Given the description of an element on the screen output the (x, y) to click on. 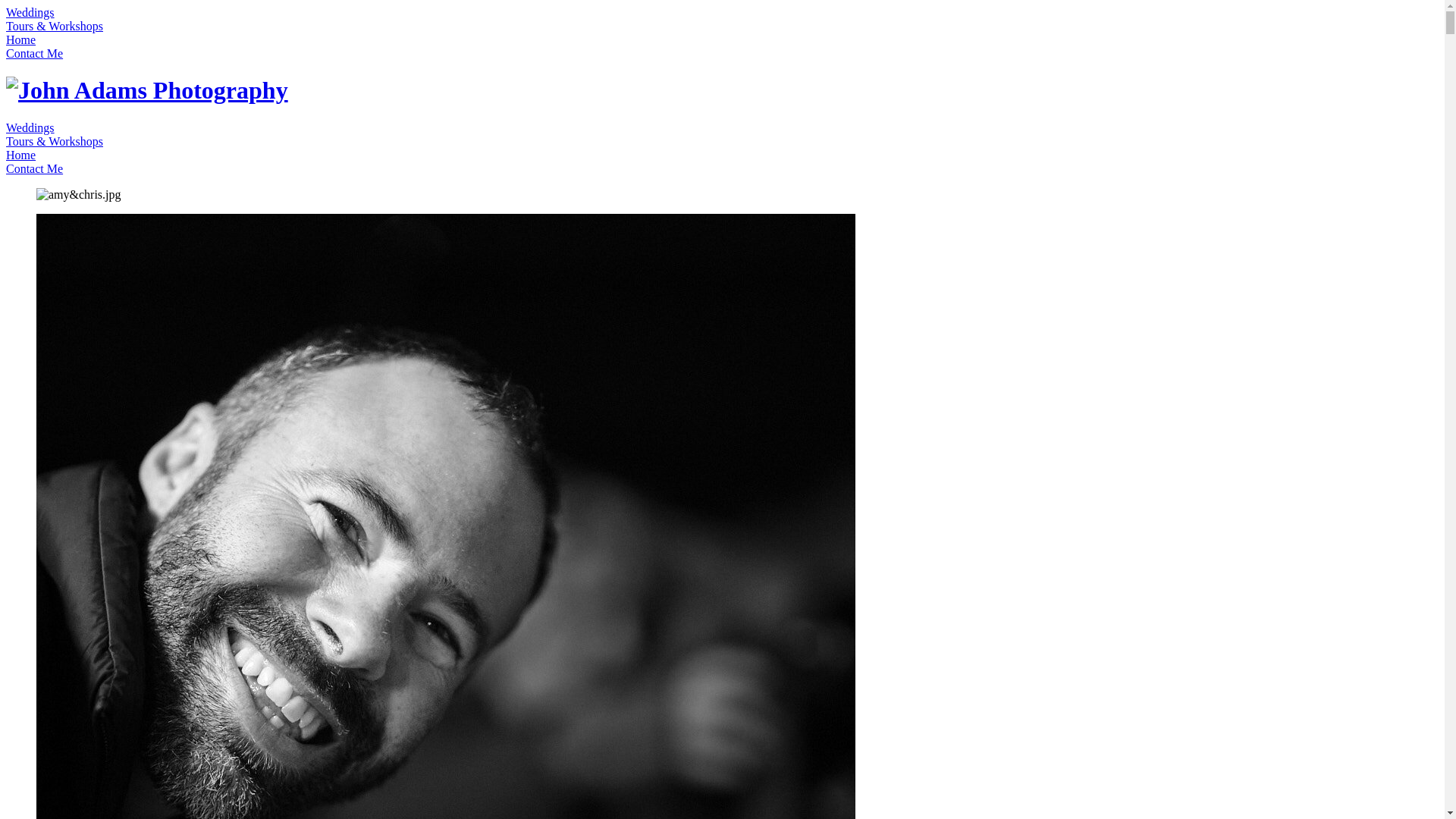
Contact Me Element type: text (34, 53)
Weddings Element type: text (30, 127)
Weddings Element type: text (30, 12)
Home Element type: text (20, 154)
Tours & Workshops Element type: text (54, 25)
Tours & Workshops Element type: text (54, 140)
Contact Me Element type: text (34, 168)
Home Element type: text (20, 39)
